Given the description of an element on the screen output the (x, y) to click on. 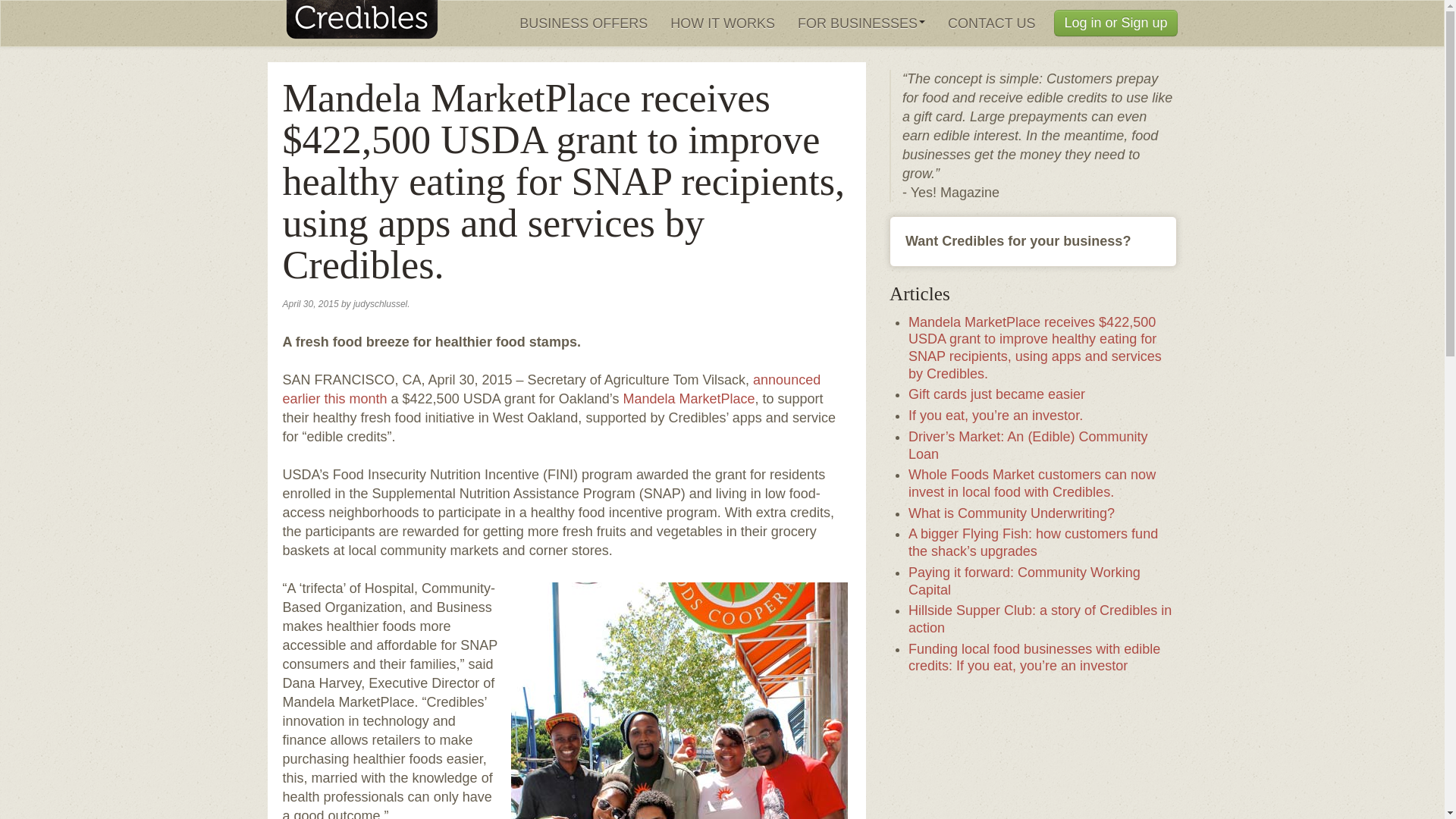
FOR BUSINESSES (861, 22)
announced earlier this month (551, 388)
Log in or Sign up (1115, 22)
CONTACT US (991, 22)
BUSINESS OFFERS (583, 22)
Paying it forward: Community Working Capital (1024, 581)
HOW IT WORKS (722, 22)
Gift cards just became easier (996, 394)
Mandela MarketPlace (688, 398)
If you eat, you're an investor. (351, 22)
Hillside Supper Club: a story of Credibles in action (1040, 618)
What is Community Underwriting? (1011, 513)
